Given the description of an element on the screen output the (x, y) to click on. 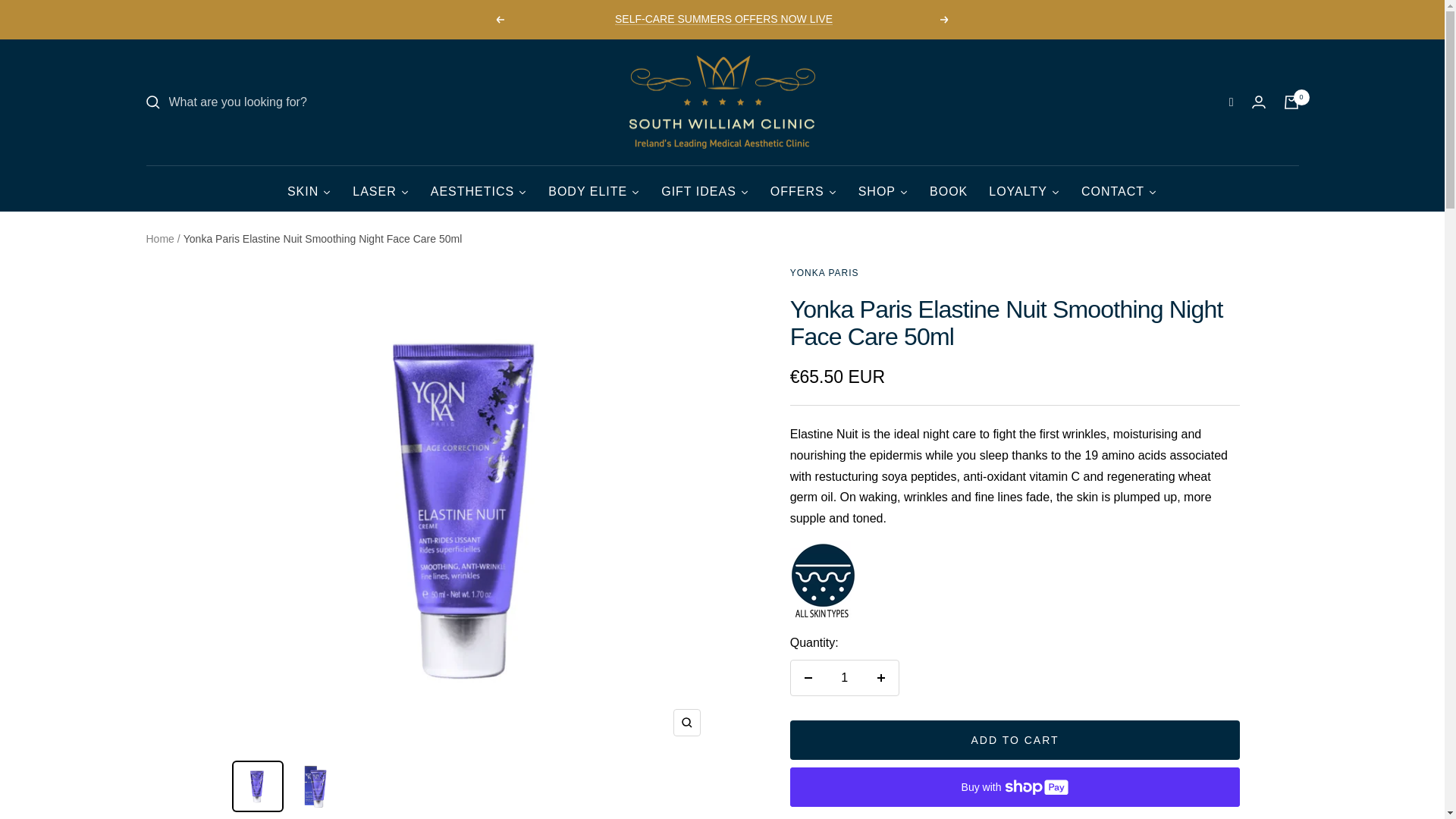
CONTACT (1118, 187)
LOYALTY (1024, 187)
LASER (380, 187)
AESTHETICS  (478, 187)
Decrease quantity (807, 677)
Zoom (686, 722)
BODY ELITE (593, 187)
GIFT IDEAS (705, 187)
1 (844, 677)
BOOK (948, 187)
